Given the description of an element on the screen output the (x, y) to click on. 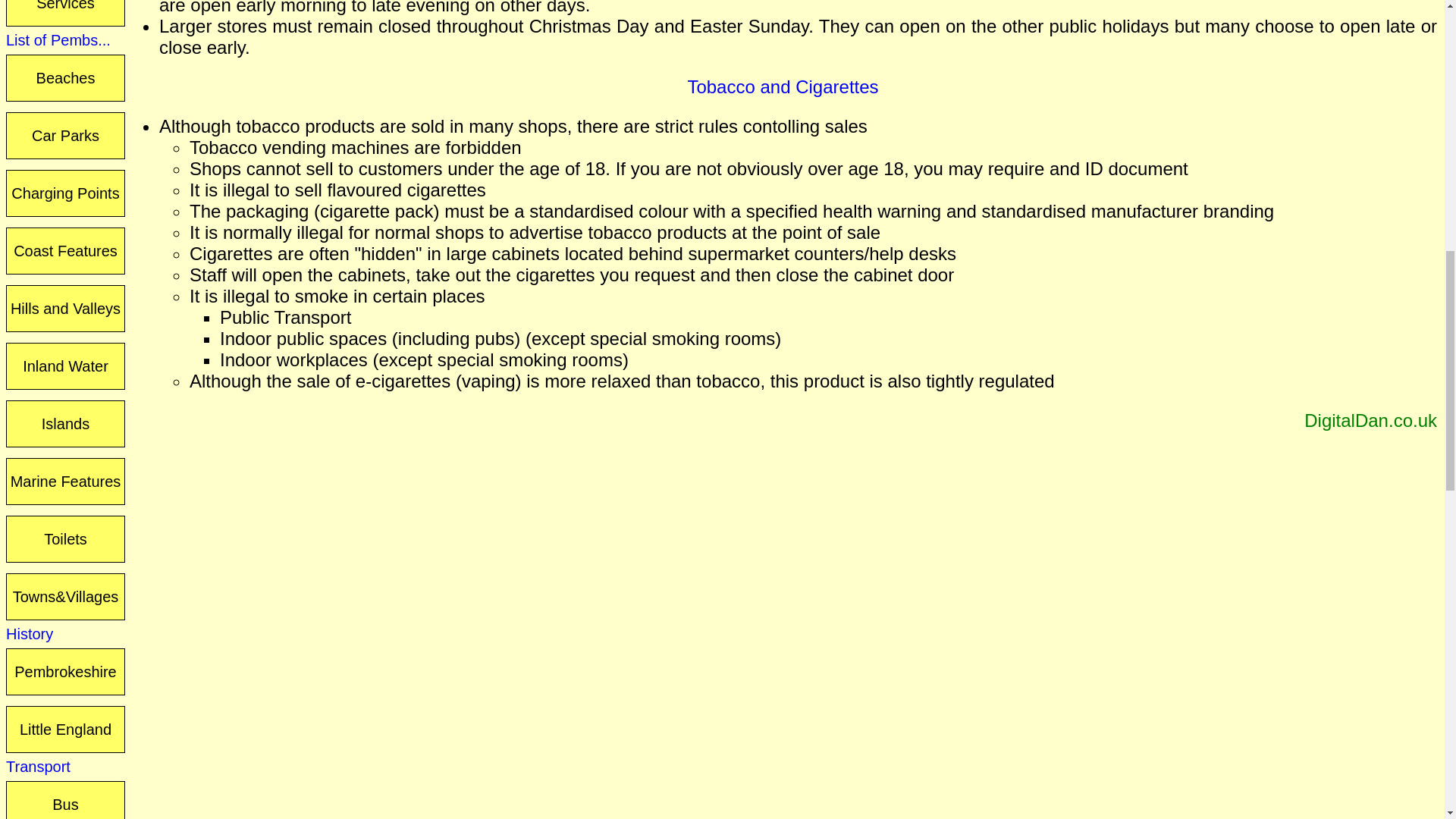
Marine Features (65, 481)
Inland Water (65, 366)
Charging Points (65, 193)
Coast Features (65, 250)
Hills and Valleys (65, 308)
Bus (65, 800)
Car Parks (65, 135)
Services (65, 13)
Little England (65, 728)
Toilets (65, 538)
